Given the description of an element on the screen output the (x, y) to click on. 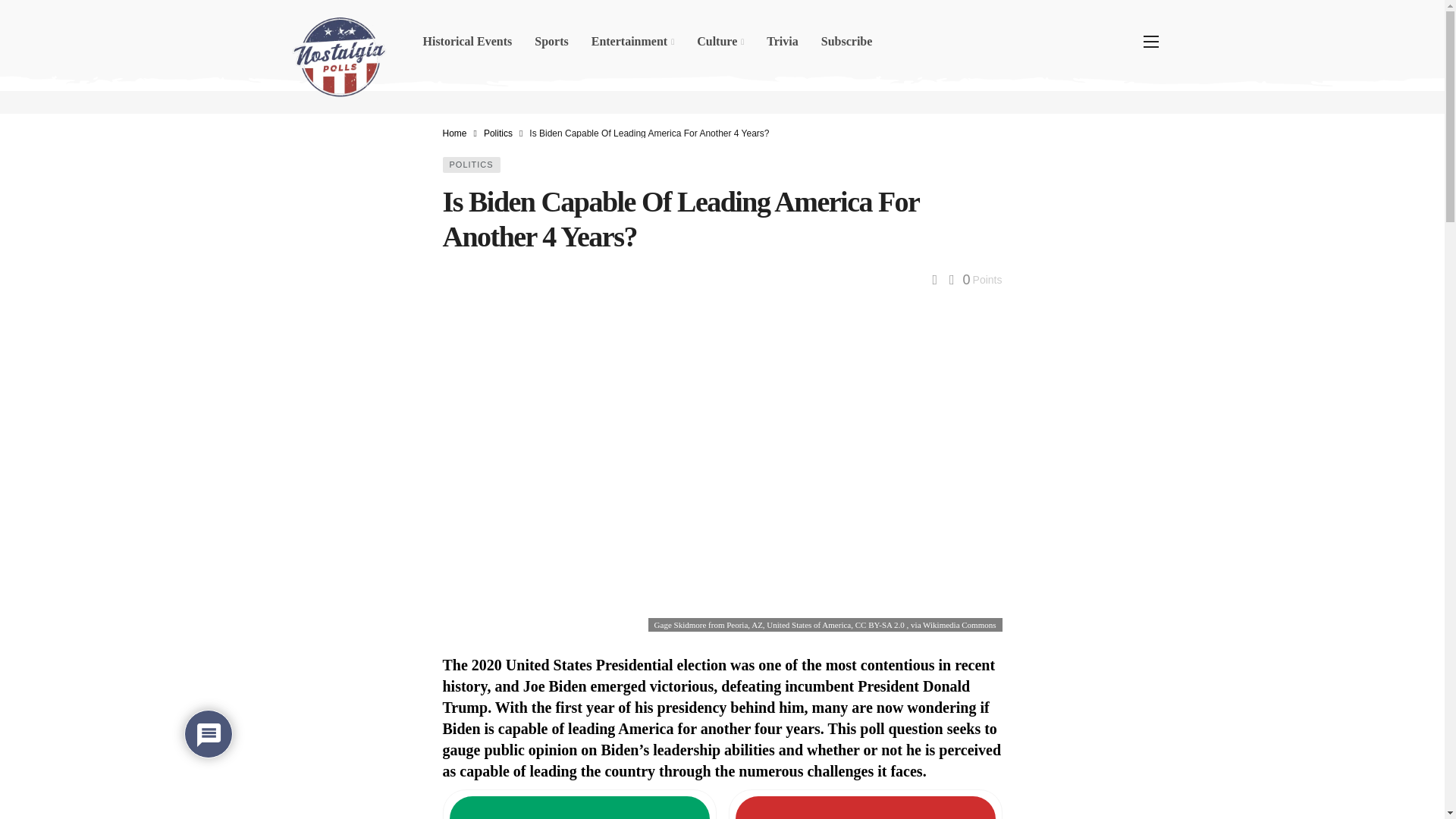
Entertainment (632, 41)
POLITICS (471, 164)
Subscribe (846, 41)
Home (454, 133)
Politics (497, 133)
Trivia (782, 41)
Historical Events (466, 41)
Culture (720, 41)
Sports (550, 41)
